Given the description of an element on the screen output the (x, y) to click on. 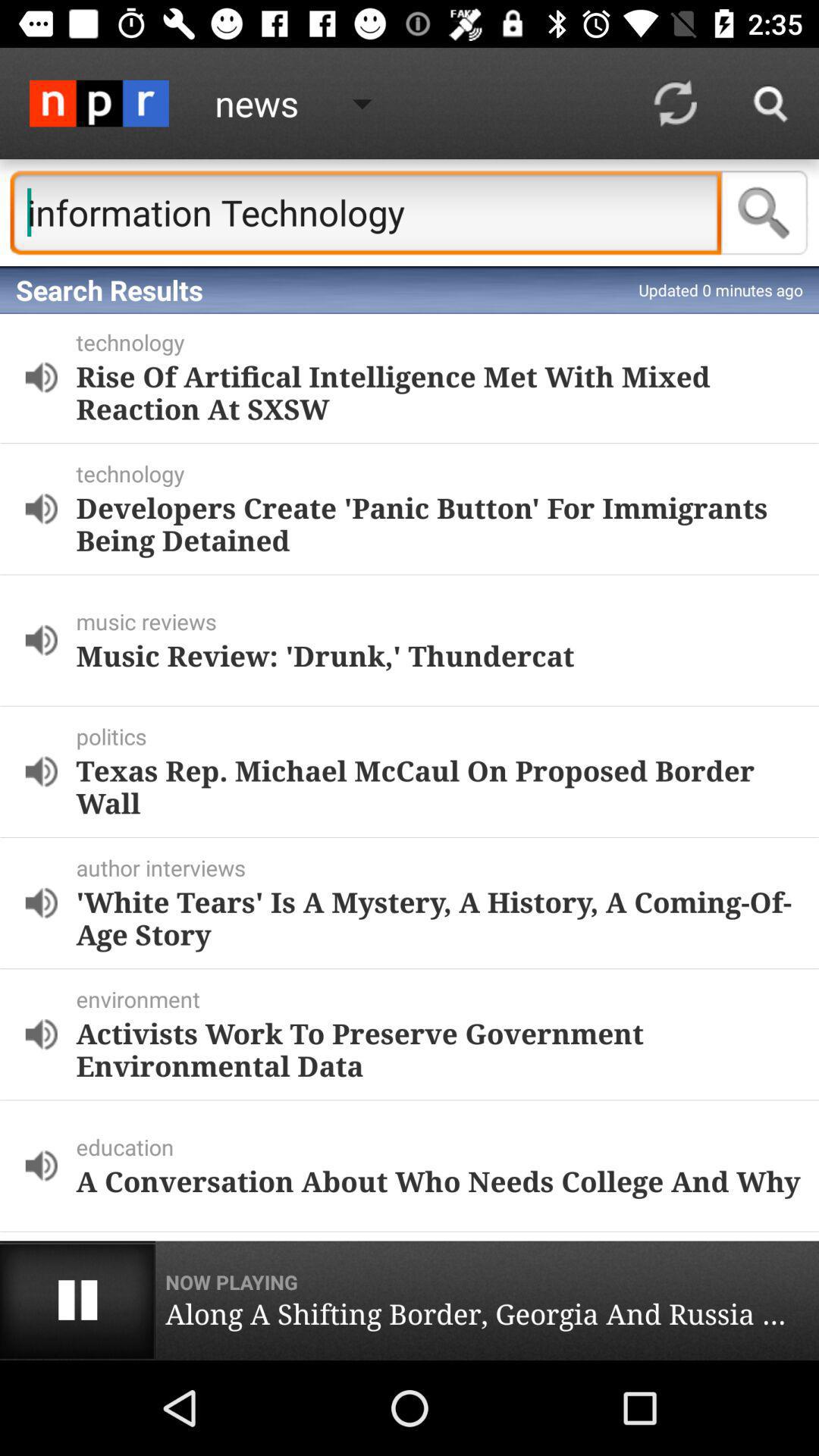
press the icon below the politics icon (438, 786)
